Given the description of an element on the screen output the (x, y) to click on. 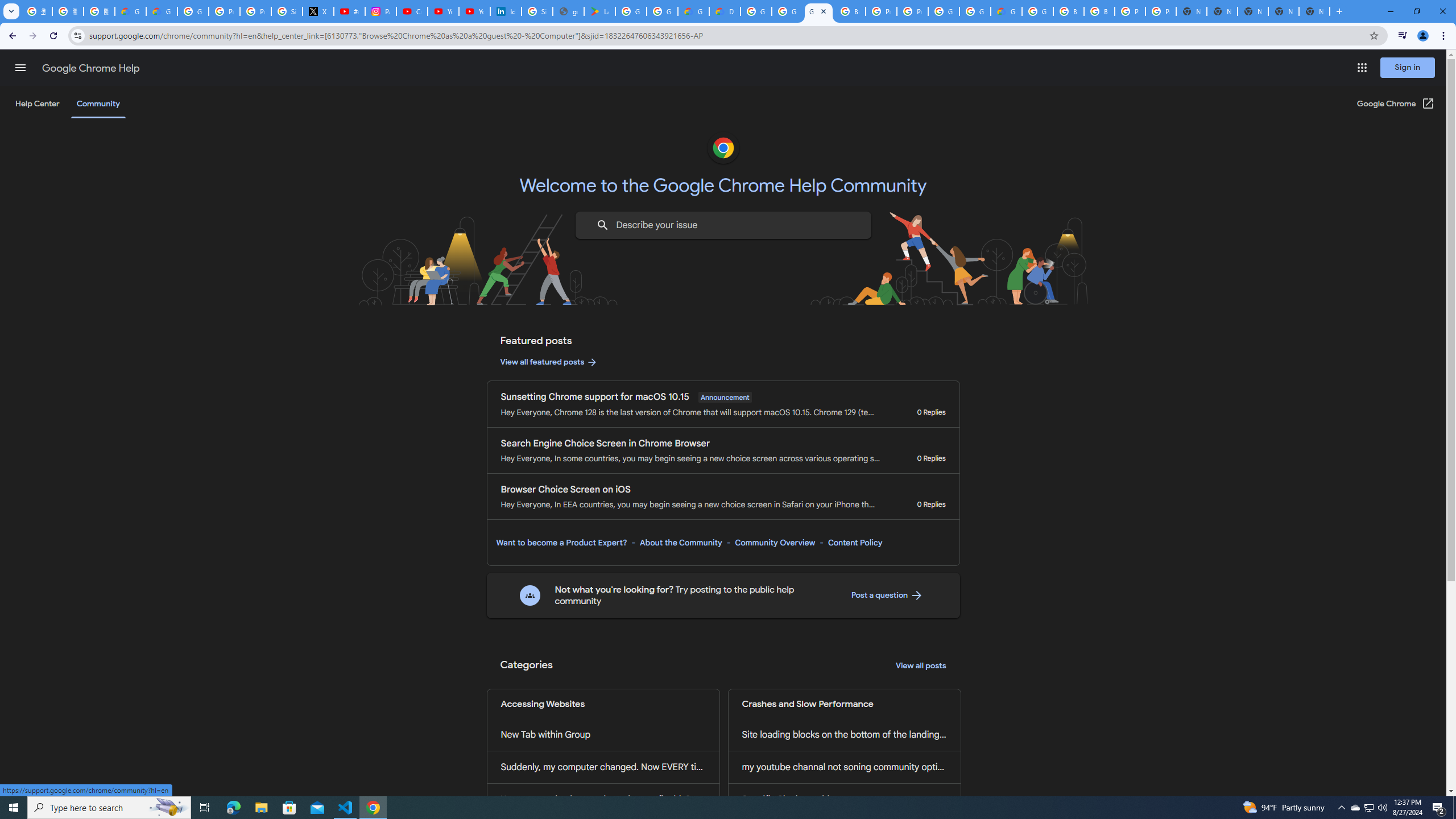
Google Chrome Help (90, 68)
X (318, 11)
YouTube Culture & Trends - YouTube Top 10, 2021 (474, 11)
#nbabasketballhighlights - YouTube (349, 11)
Search tabs (10, 11)
Chrome (1445, 35)
Google Cloud Platform (1037, 11)
View site information (77, 35)
Identity verification via Persona | LinkedIn Help (505, 11)
Main menu (20, 67)
